Given the description of an element on the screen output the (x, y) to click on. 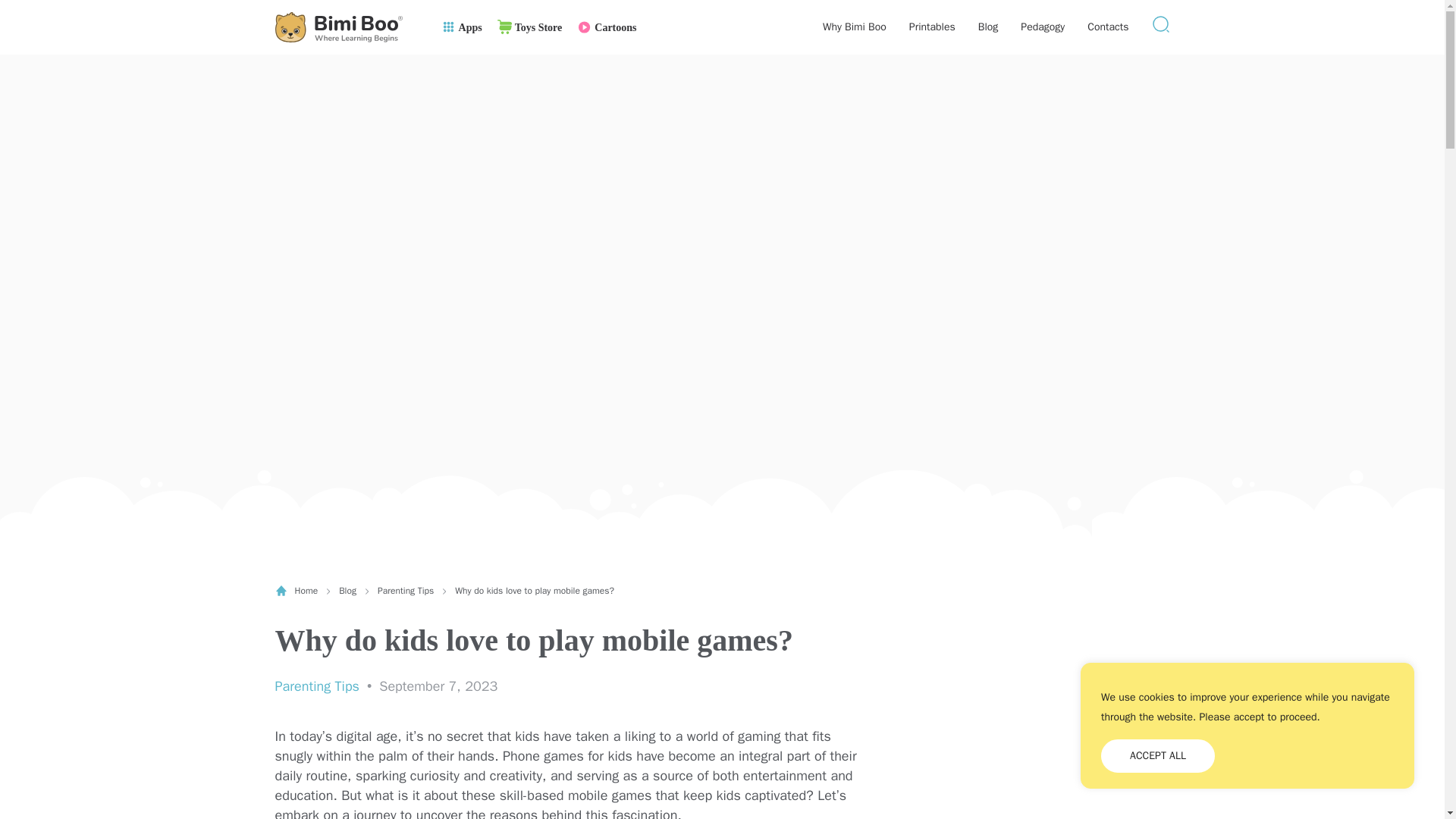
Blog (347, 590)
Printables (931, 27)
Apps (461, 27)
Go to Bimiboo.com. (296, 590)
Blog (988, 27)
Parenting Tips (316, 686)
Apps (461, 27)
Toys Store (529, 27)
Contacts (1107, 27)
Toys Store (529, 27)
